Given the description of an element on the screen output the (x, y) to click on. 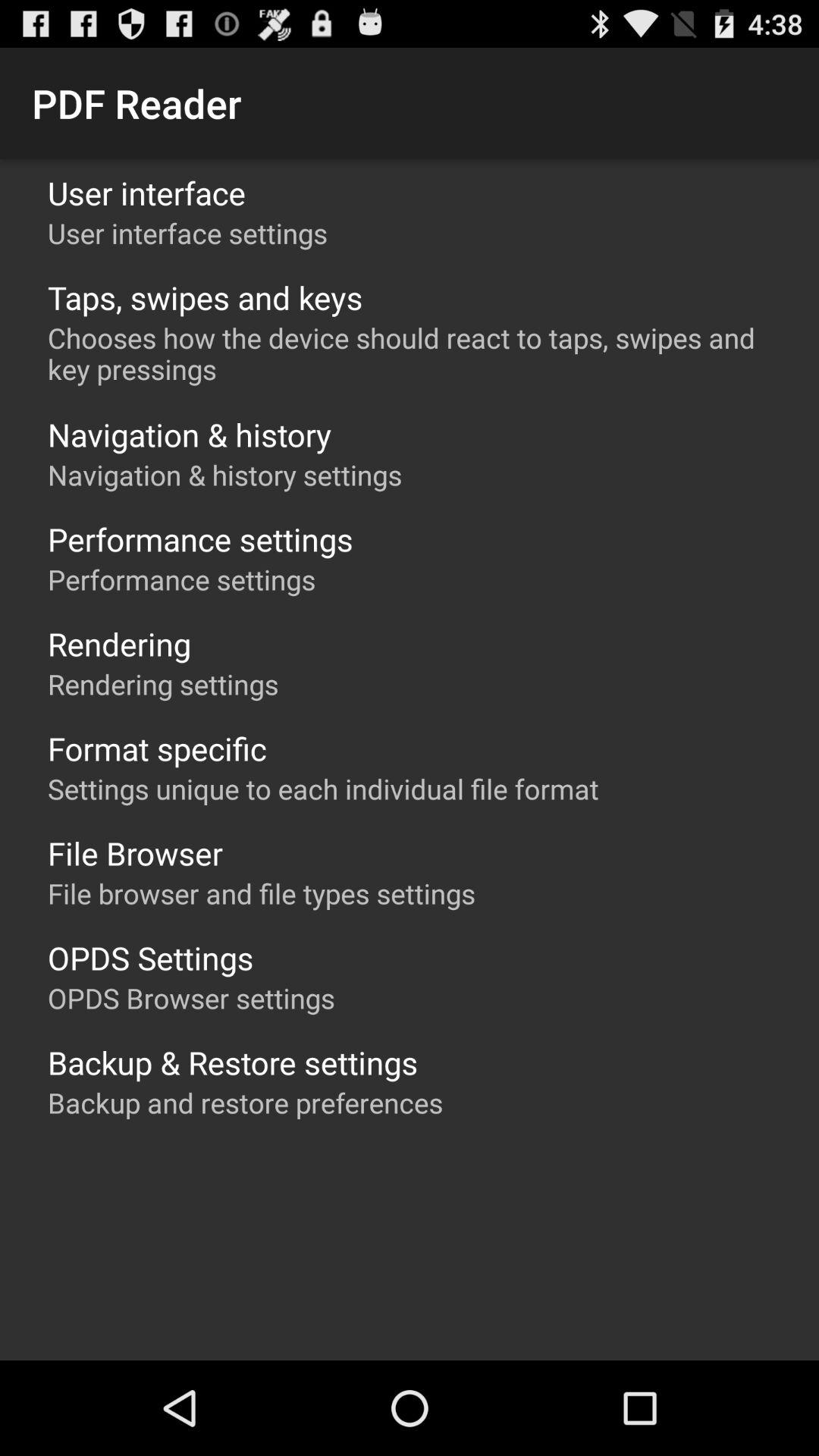
press the icon above the file browser item (322, 788)
